Given the description of an element on the screen output the (x, y) to click on. 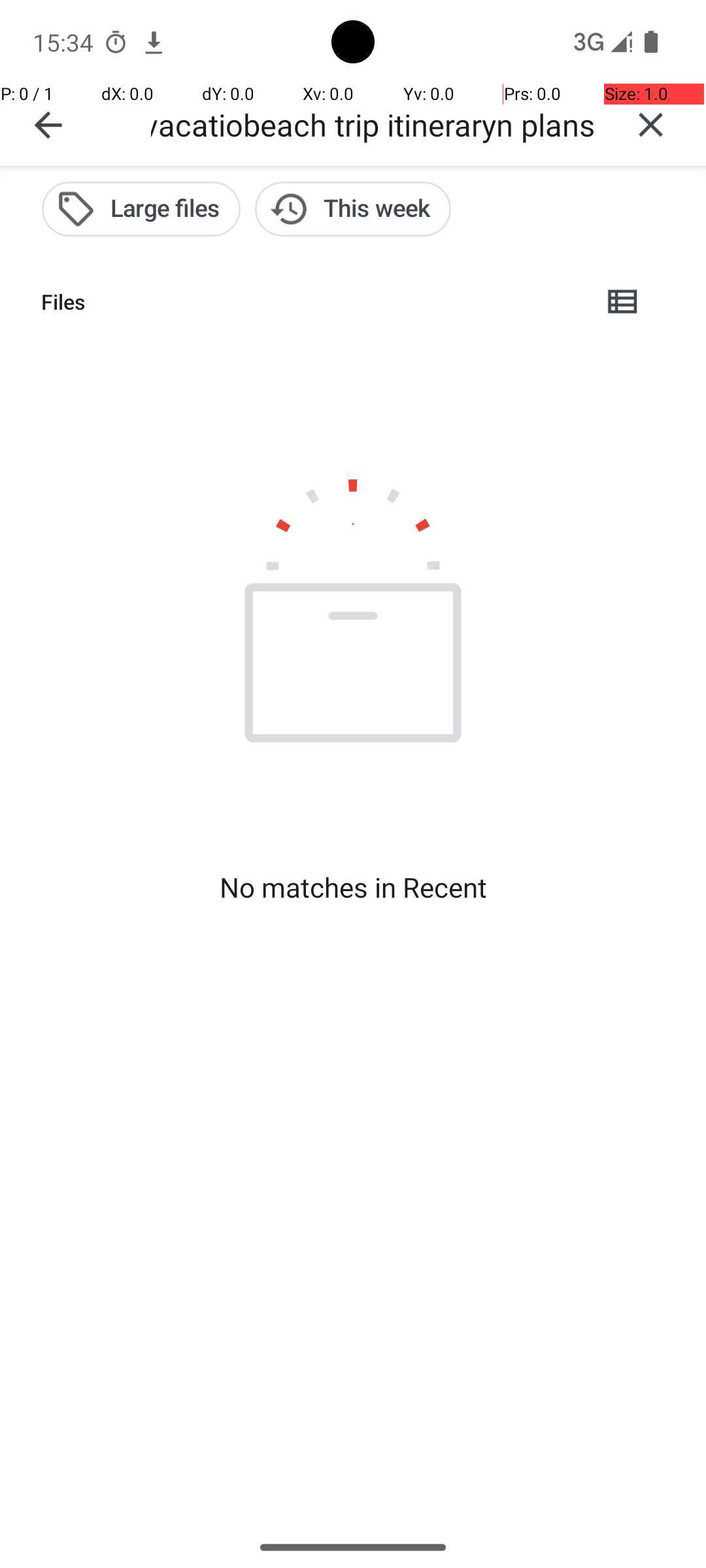
summer vacatiobeach trip itineraryn plans Element type: android.widget.AutoCompleteTextView (373, 124)
Chrome notification: www.espn.com Element type: android.widget.ImageView (153, 41)
